Given the description of an element on the screen output the (x, y) to click on. 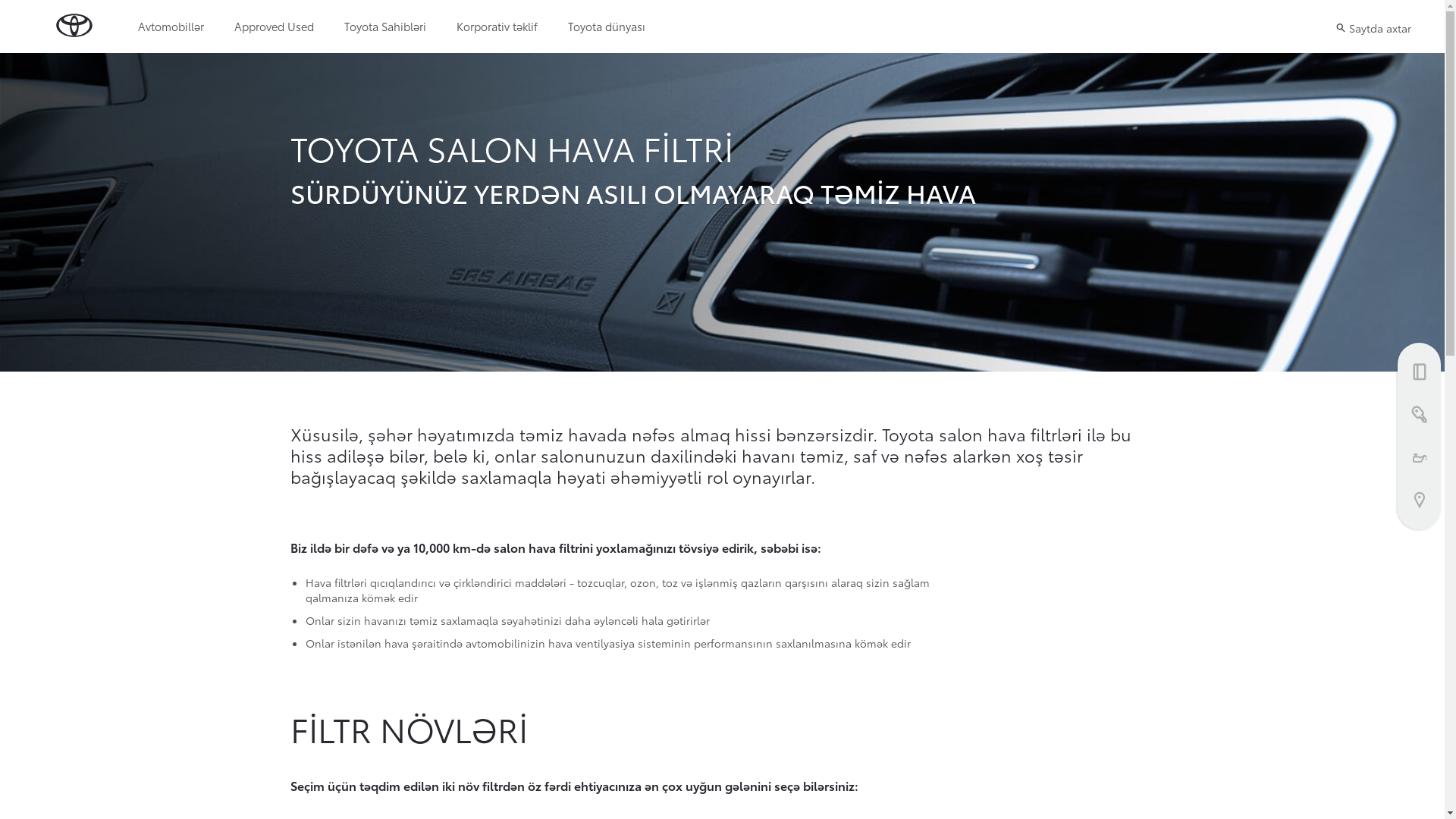
Saytda axtar Element type: text (1373, 26)
Approved Used Element type: text (274, 26)
